Given the description of an element on the screen output the (x, y) to click on. 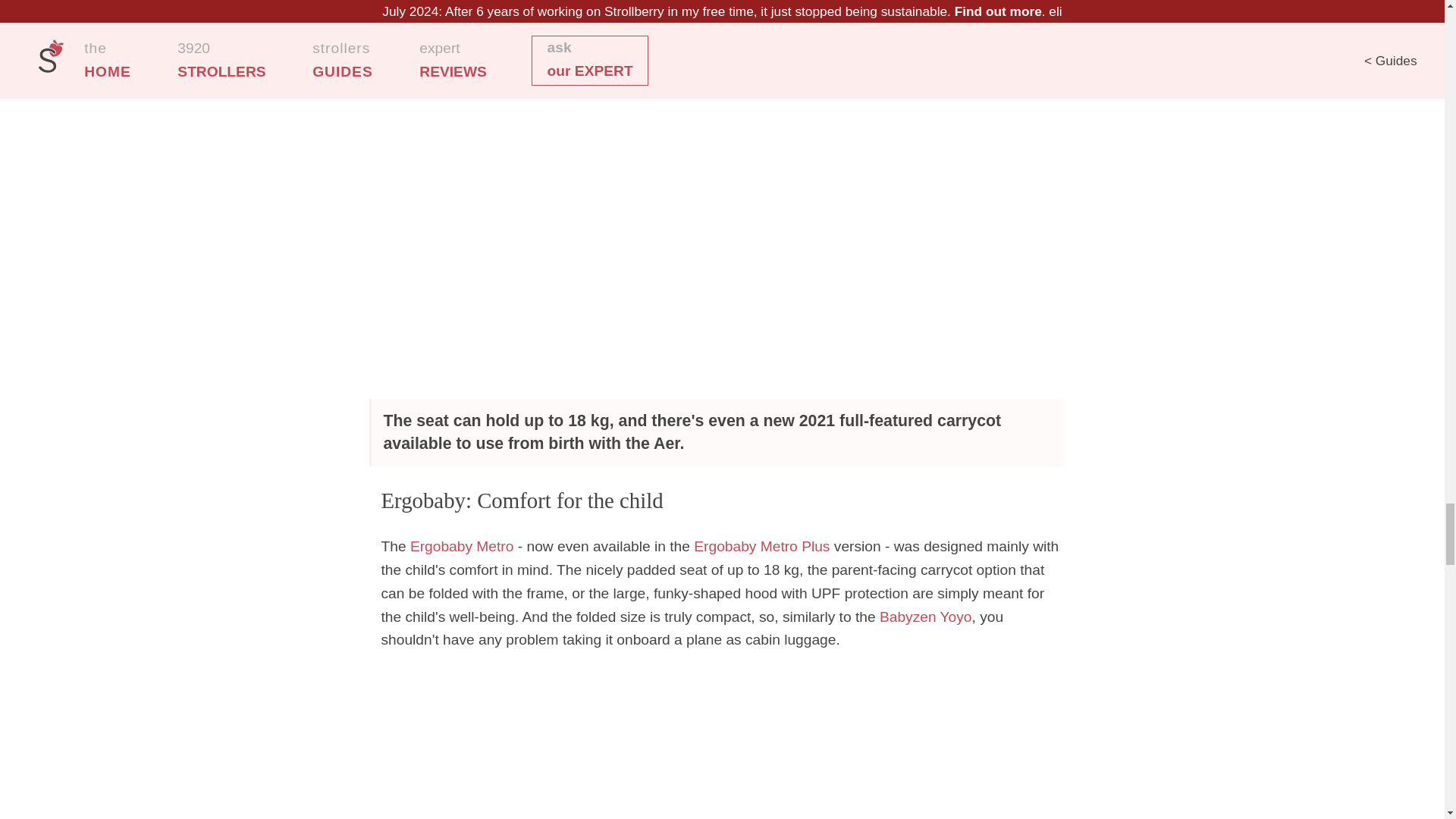
Ergobaby Metro Plus (761, 546)
Babyzen Yoyo (925, 616)
Ergobaby Metro (461, 546)
